Given the description of an element on the screen output the (x, y) to click on. 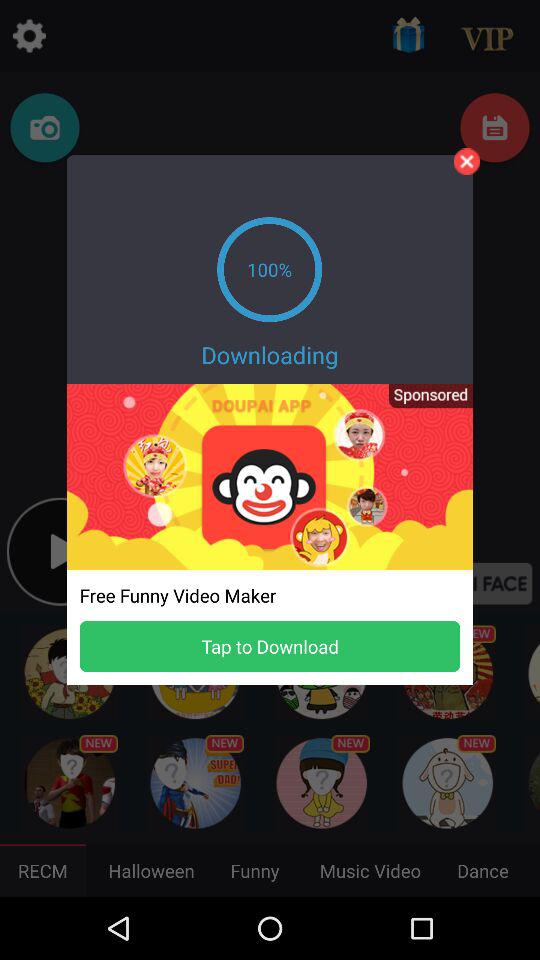
open icon at the bottom (269, 646)
